Given the description of an element on the screen output the (x, y) to click on. 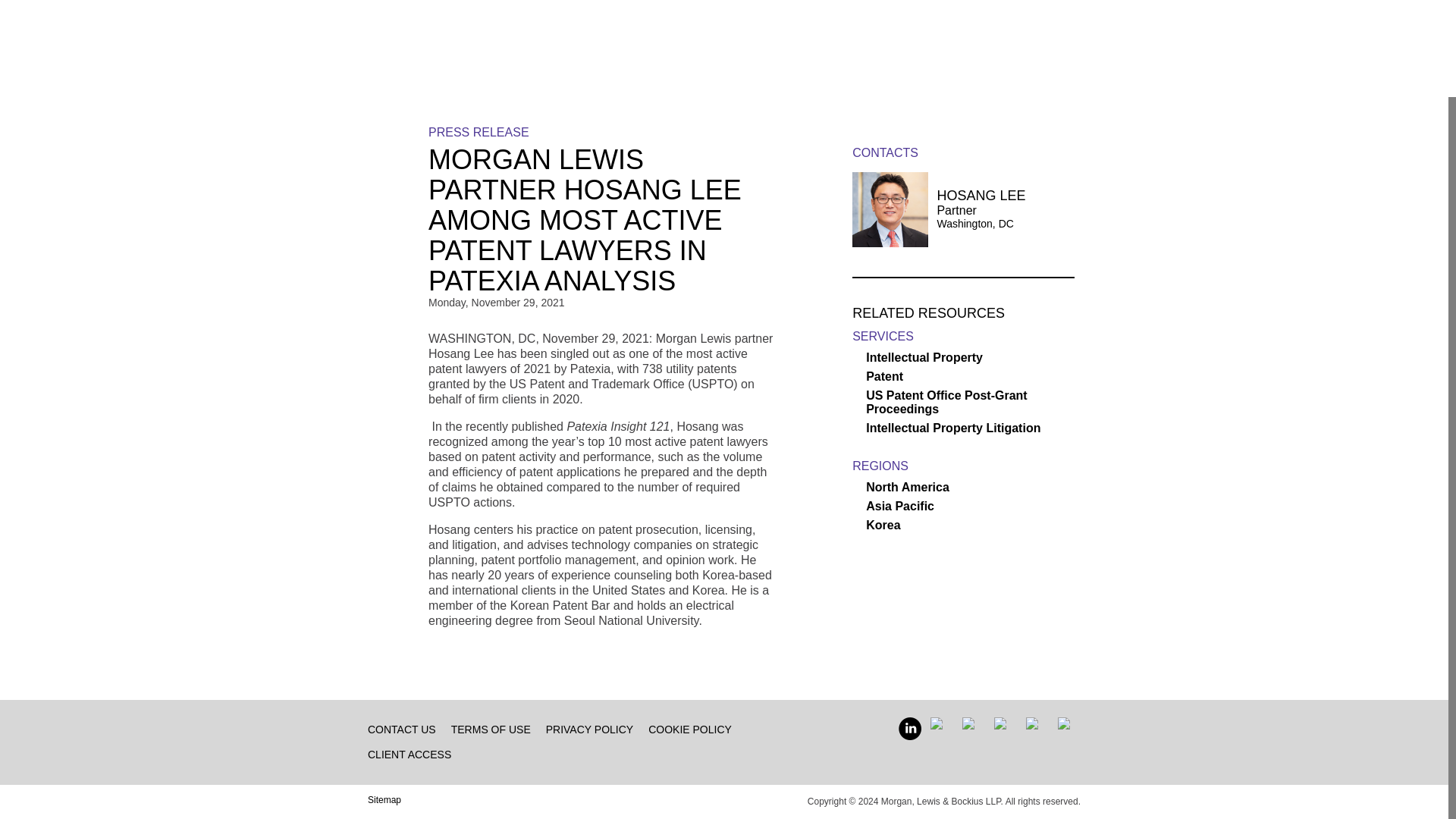
News (492, 28)
News (492, 28)
Our Firm (437, 28)
Share on LinkedIn (401, 138)
SUBSCRIBE (1045, 27)
Home (382, 28)
Share on Facebook (401, 202)
Share with email (401, 234)
Our Firm (437, 28)
View print version (401, 266)
Home (382, 28)
